Given the description of an element on the screen output the (x, y) to click on. 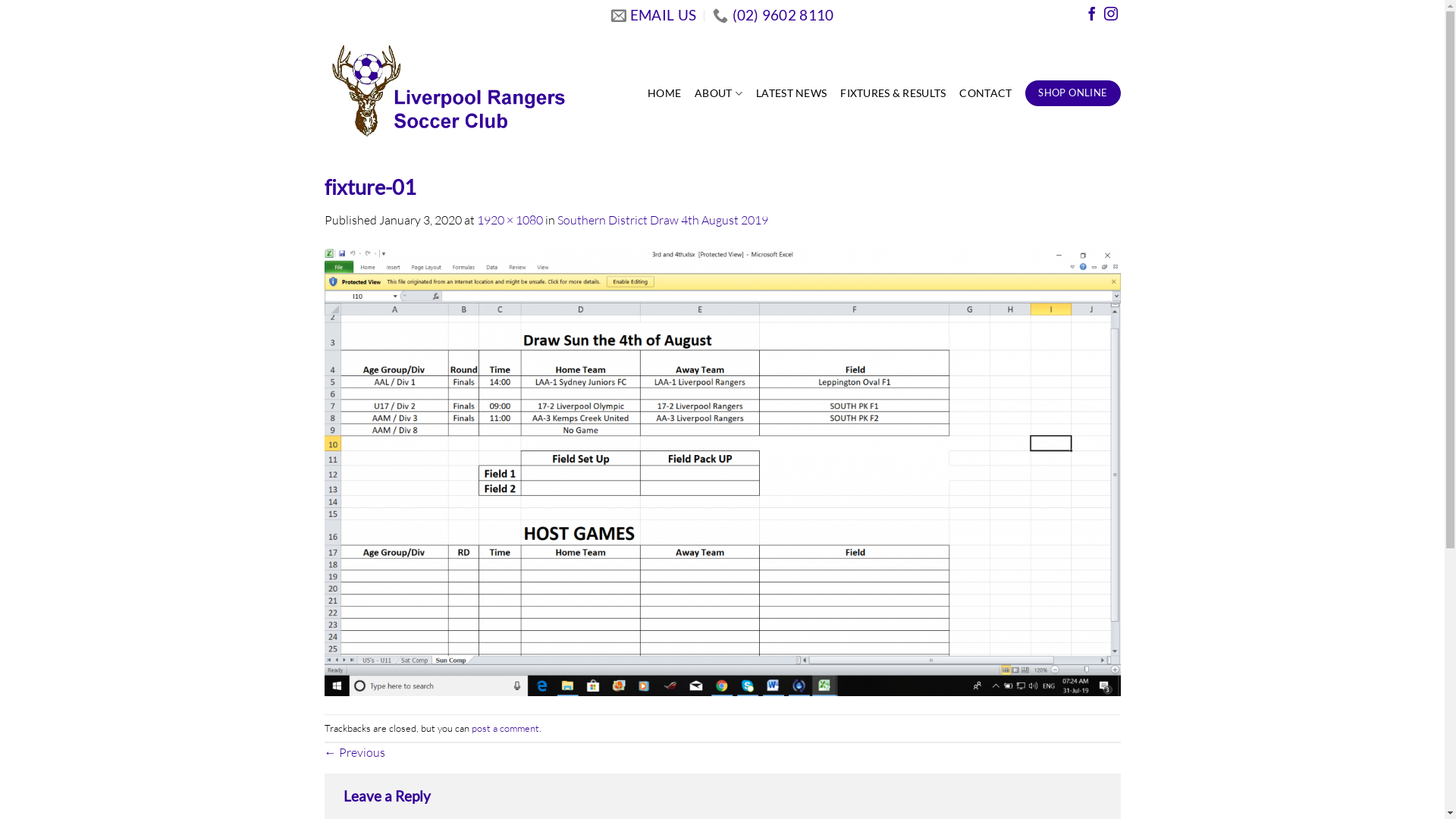
SHOP ONLINE Element type: text (1072, 93)
LATEST NEWS Element type: text (791, 92)
EMAIL US Element type: text (653, 15)
HOME Element type: text (663, 92)
ABOUT Element type: text (718, 92)
post a comment Element type: text (505, 727)
(02) 9602 8110 Element type: text (772, 15)
FIXTURES & RESULTS Element type: text (892, 92)
CONTACT Element type: text (985, 92)
fixture-01 Element type: hover (722, 470)
Southern District Draw 4th August 2019 Element type: text (661, 219)
